Given the description of an element on the screen output the (x, y) to click on. 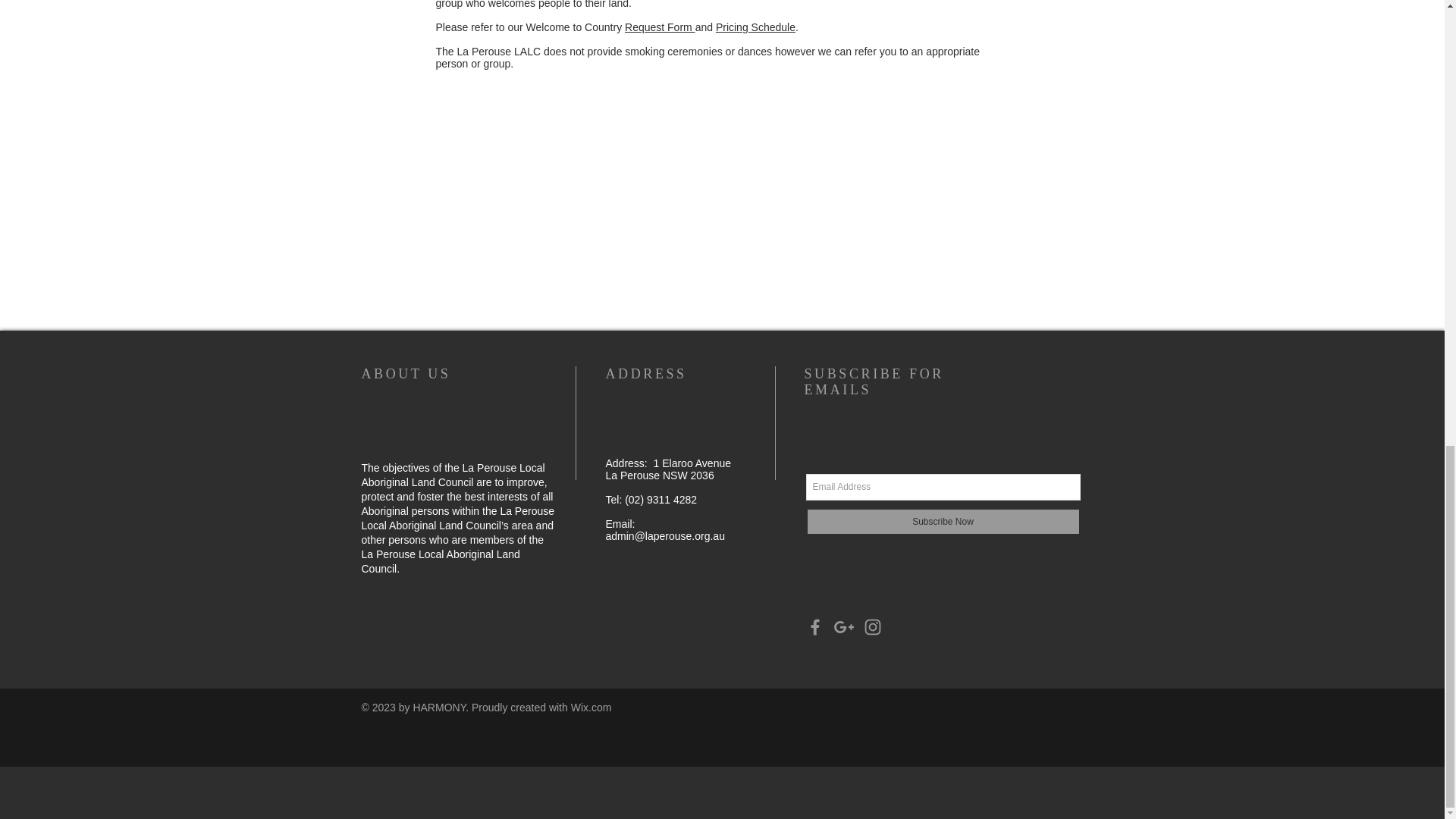
Subscribe Now (942, 521)
Request Form (659, 27)
Wix.com (590, 707)
Pricing Schedule (755, 27)
